Given the description of an element on the screen output the (x, y) to click on. 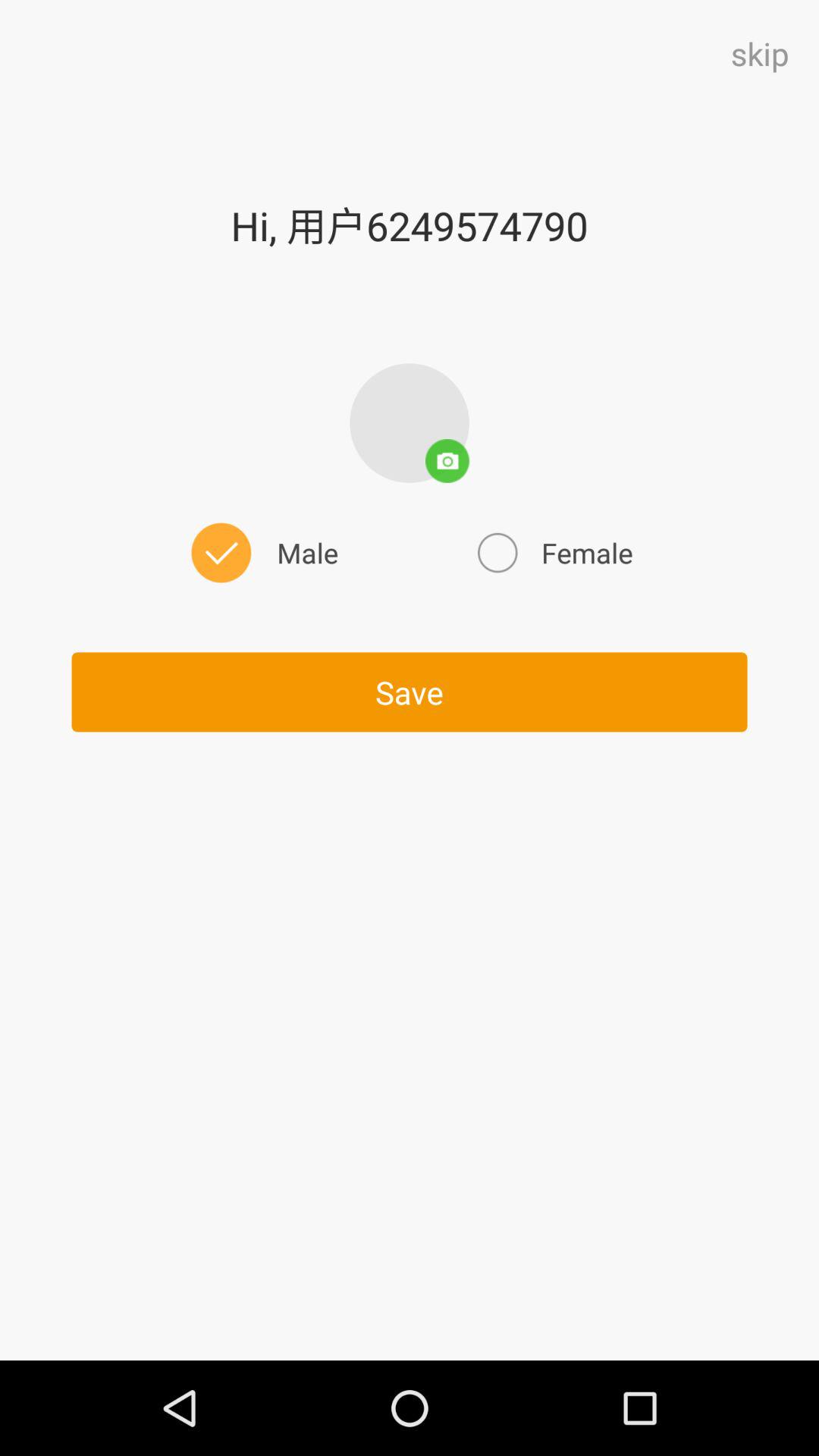
open the icon above female icon (409, 422)
